Given the description of an element on the screen output the (x, y) to click on. 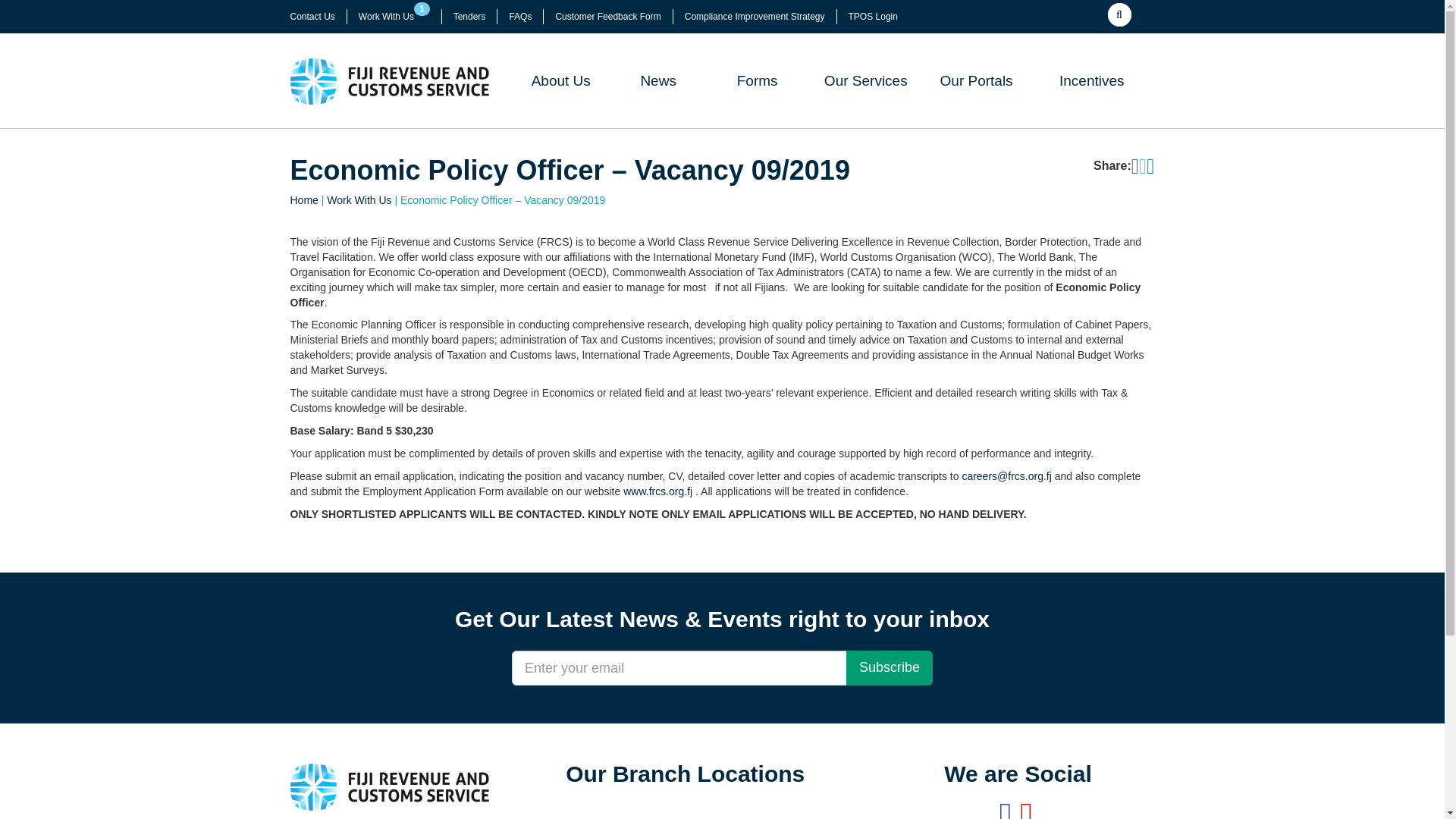
Work With Us (385, 16)
Tenders (469, 16)
Contact Us (311, 16)
FAQs (519, 16)
